Given the description of an element on the screen output the (x, y) to click on. 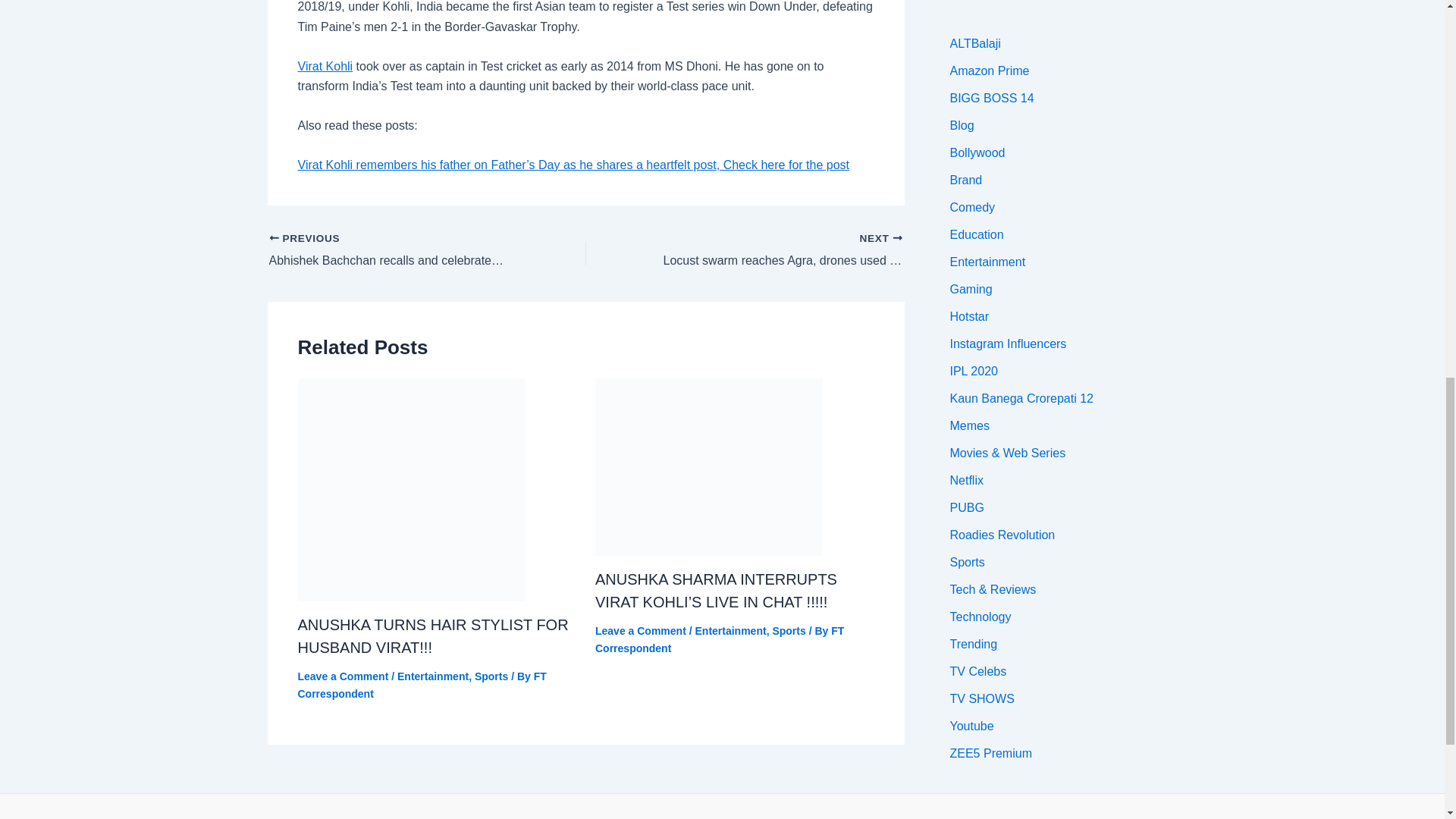
Sports (491, 676)
Locust swarm reaches Agra, drones used to spray insecticides (774, 250)
FT Correspondent (421, 684)
Leave a Comment (342, 676)
Virat Kohli (324, 65)
View all posts by FT Correspondent (421, 684)
Entertainment (432, 676)
ANUSHKA TURNS HAIR STYLIST FOR HUSBAND VIRAT!!! (432, 636)
View all posts by FT Correspondent (719, 638)
